Given the description of an element on the screen output the (x, y) to click on. 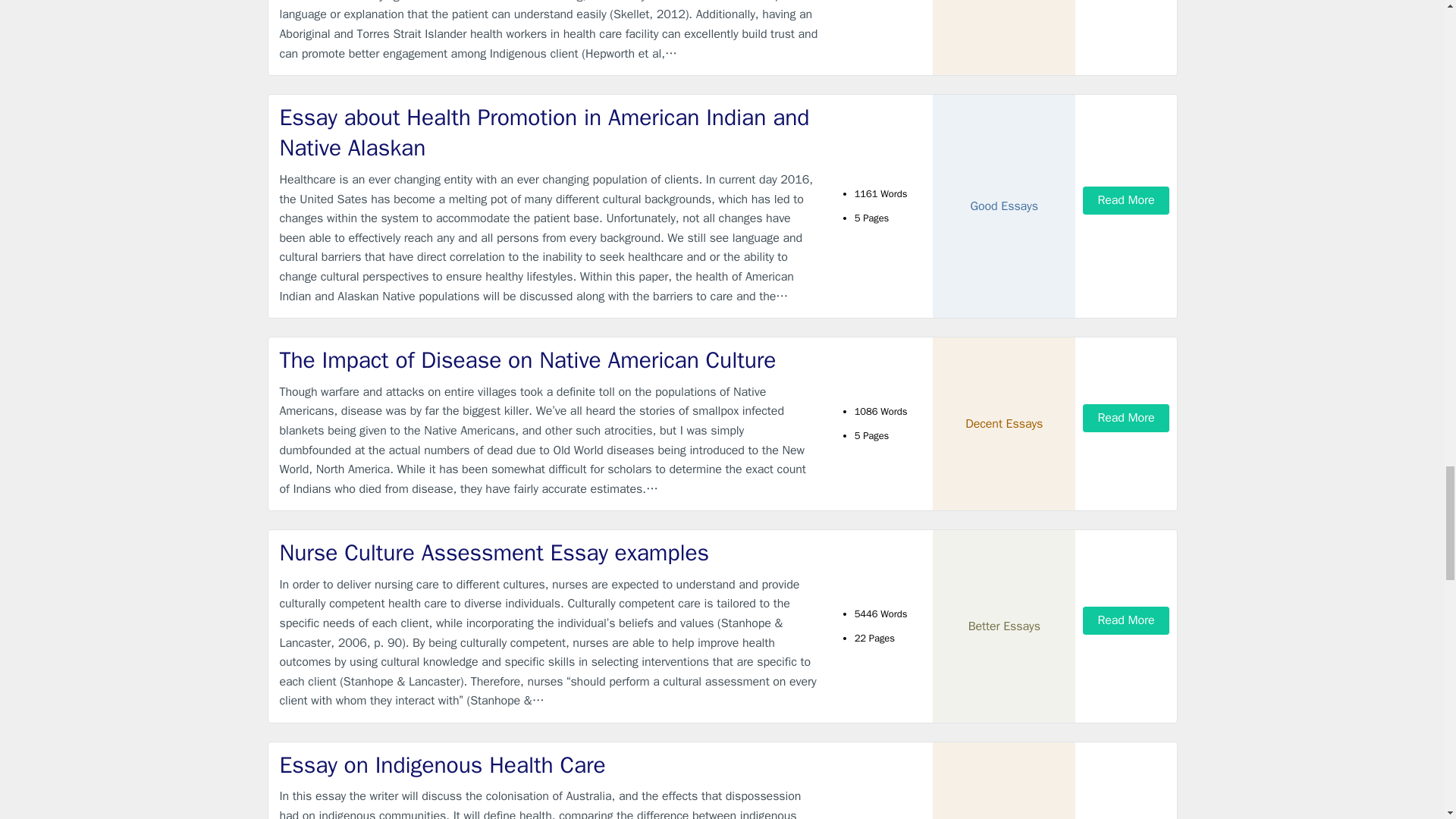
Read More (1126, 200)
The Impact of Disease on Native American Culture (548, 359)
